Given the description of an element on the screen output the (x, y) to click on. 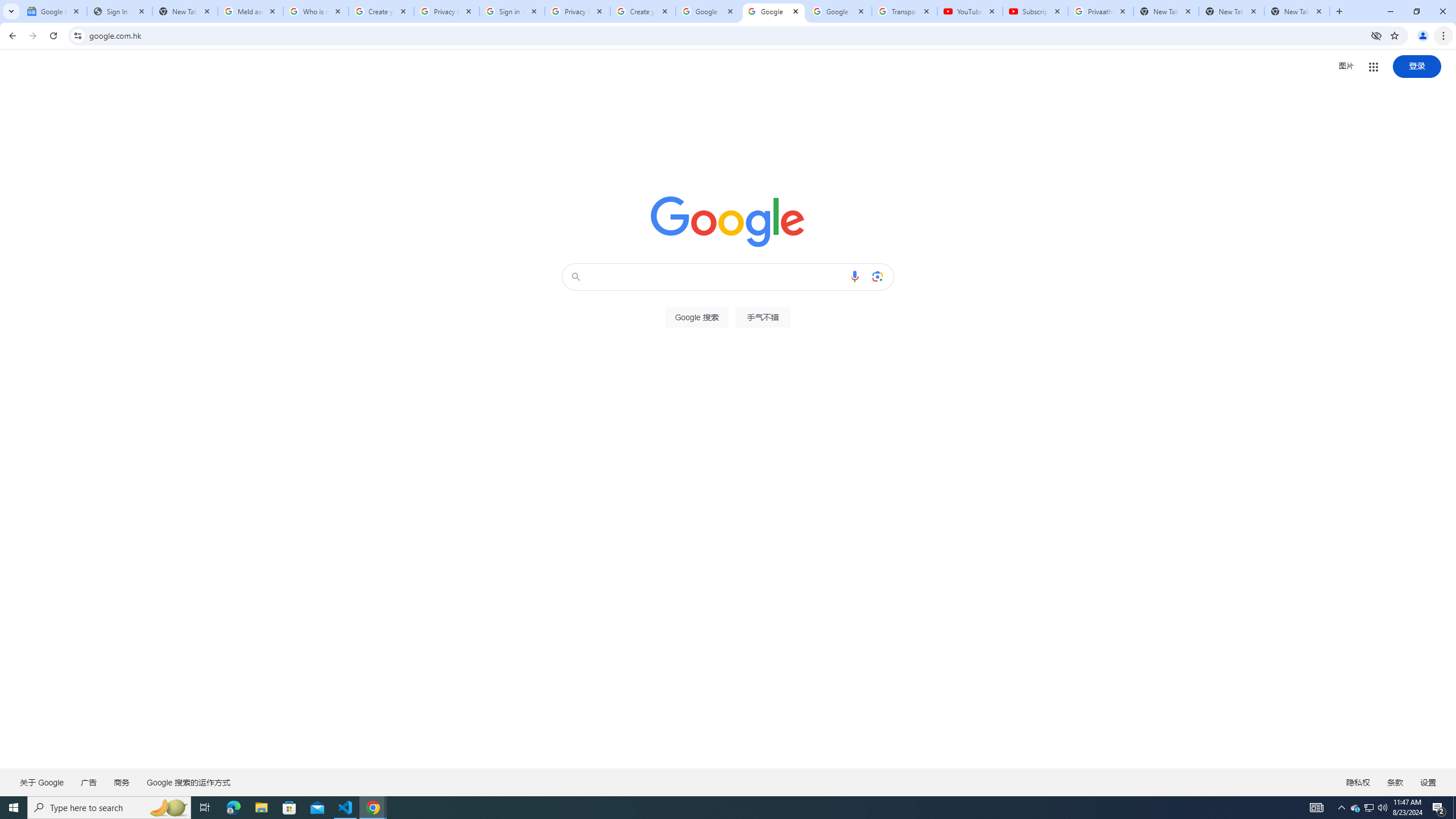
Sign in - Google Accounts (512, 11)
New Tab (1297, 11)
